Given the description of an element on the screen output the (x, y) to click on. 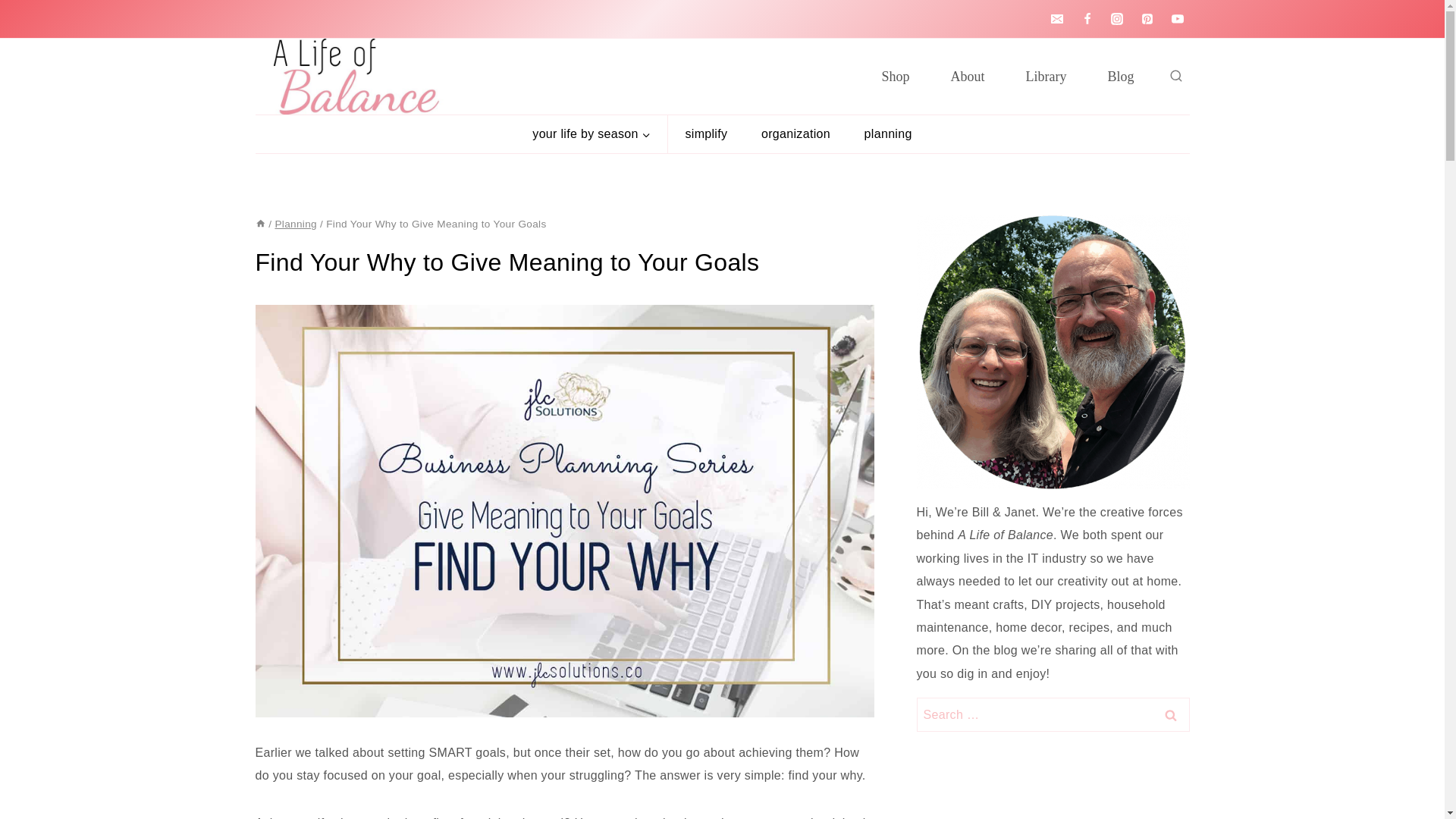
Planning (295, 224)
Home (259, 224)
planning (887, 134)
simplify (706, 134)
About (967, 76)
Search (1170, 714)
Shop (895, 76)
organization (795, 134)
Search (1170, 714)
Blog (1120, 76)
